Given the description of an element on the screen output the (x, y) to click on. 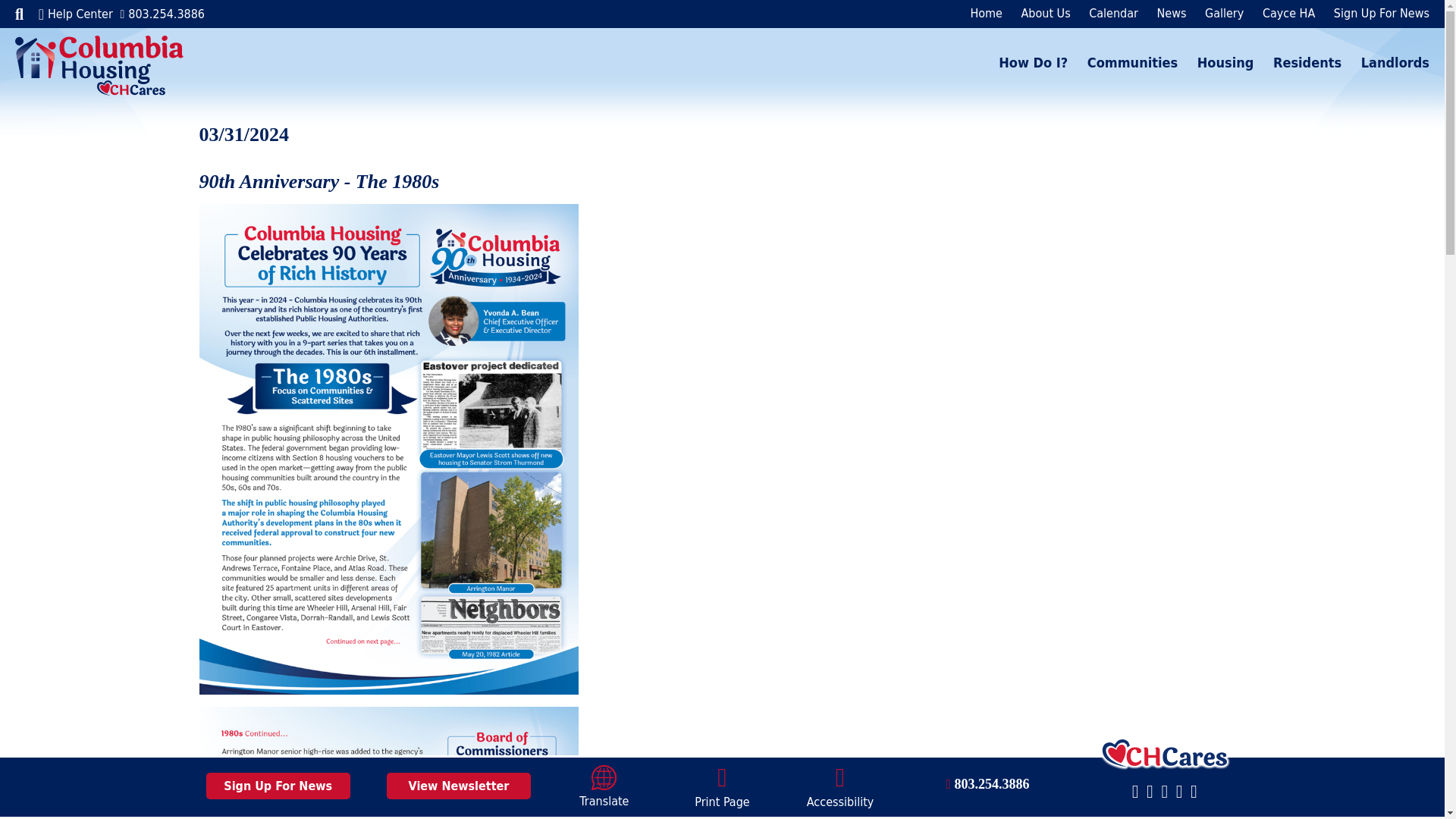
Home (986, 12)
News (1163, 12)
Calendar (1106, 12)
How Do I? (1032, 62)
803.254.3886 (160, 13)
Help Center (76, 12)
Housing (1217, 62)
Communities (1124, 62)
Cayce HA (1280, 12)
Gallery (1216, 12)
